Given the description of an element on the screen output the (x, y) to click on. 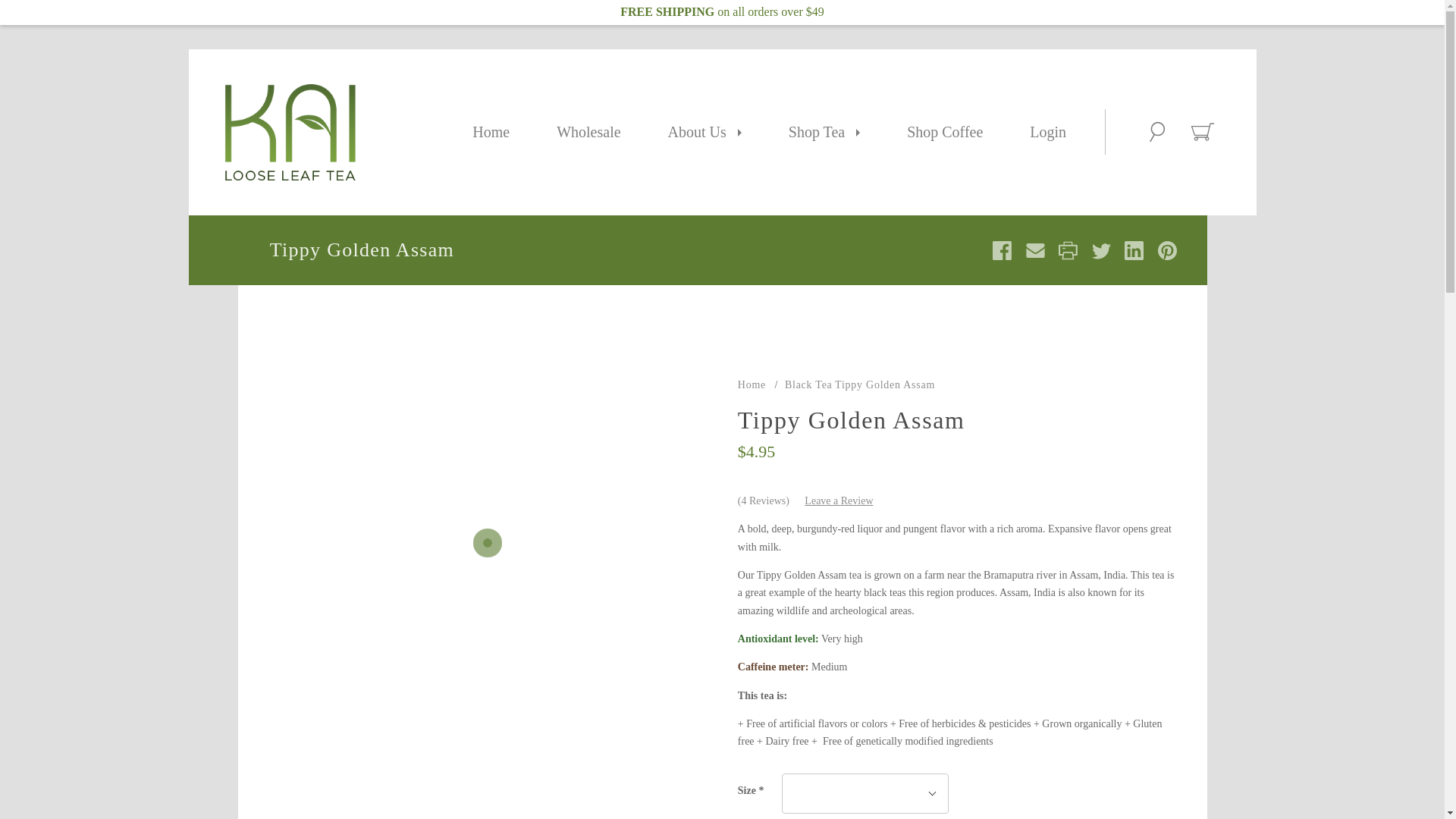
About Us (704, 131)
Home (751, 384)
Shop Coffee (944, 131)
Leave a Review (838, 500)
Black Tea (808, 384)
Tippy Golden Assam (884, 384)
Shop Tea (824, 131)
Home (491, 131)
Wholesale (588, 131)
Login (1047, 131)
